Given the description of an element on the screen output the (x, y) to click on. 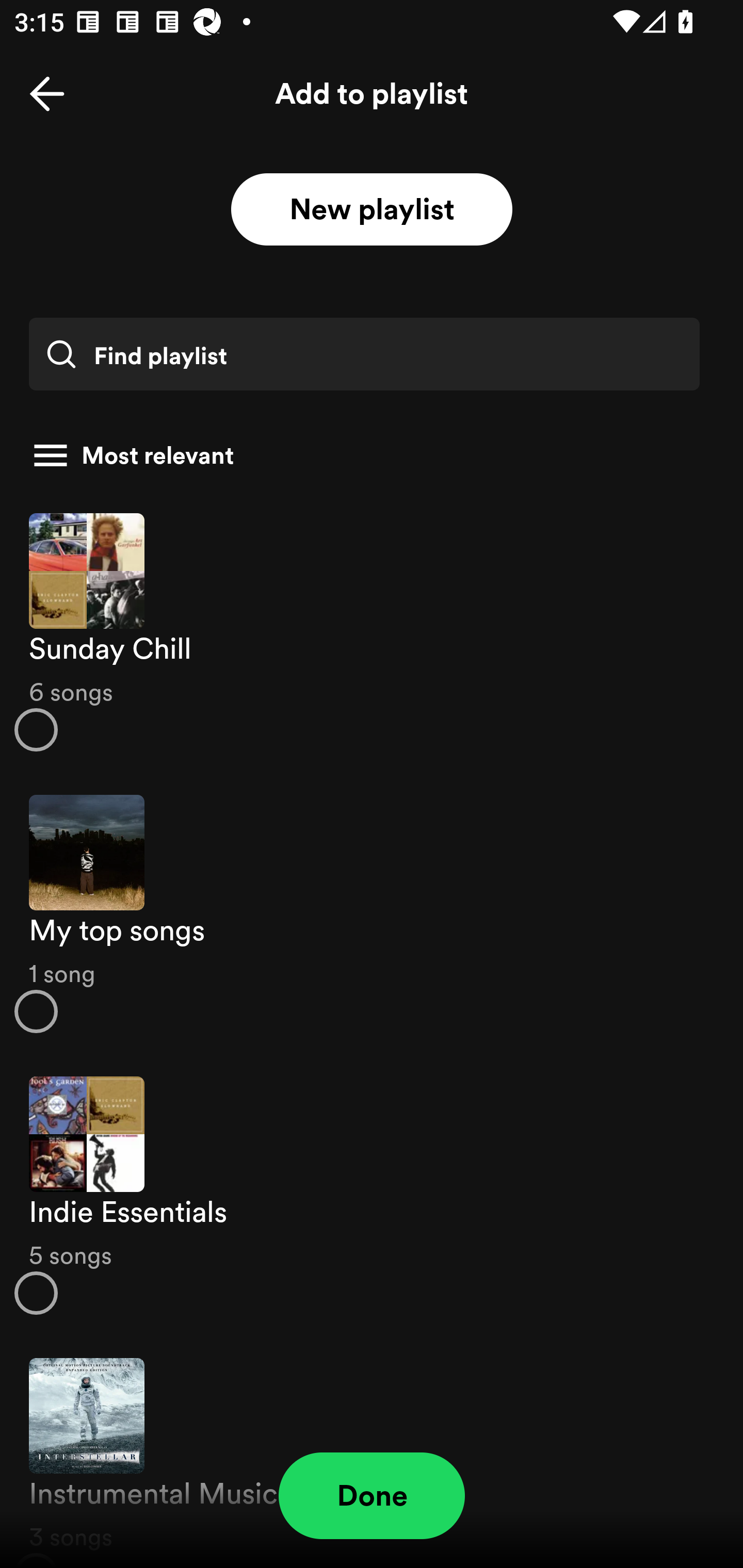
Back (46, 93)
New playlist (371, 210)
Find playlist (363, 354)
Most relevant (363, 455)
Sunday Chill 6 songs (371, 631)
My top songs 1 song (371, 914)
Indie Essentials 5 songs (371, 1195)
Instrumental Music 3 songs (371, 1451)
Done (371, 1495)
